Given the description of an element on the screen output the (x, y) to click on. 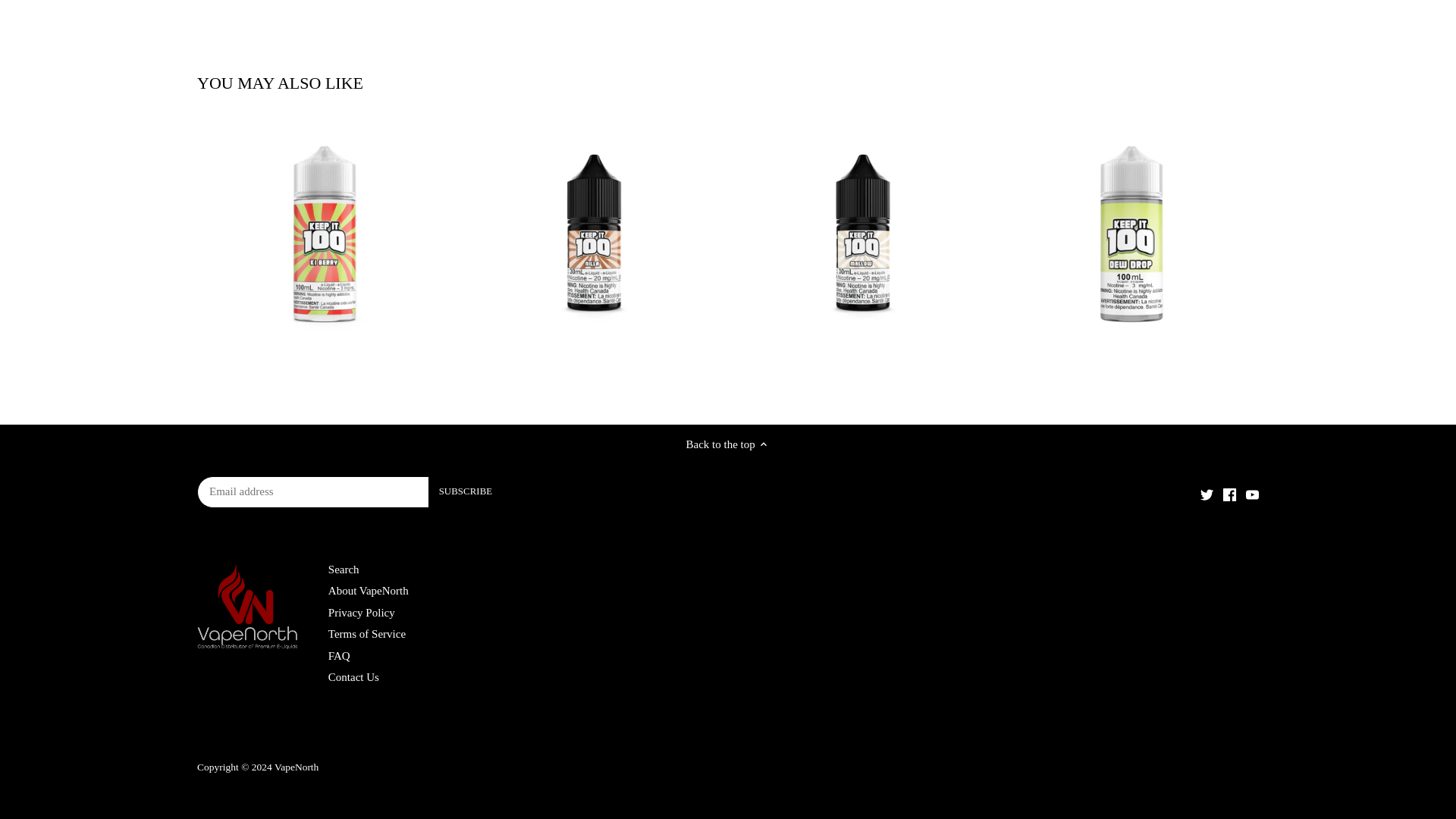
Facebook (1229, 494)
Youtube (1252, 494)
Twitter (1205, 494)
